Given the description of an element on the screen output the (x, y) to click on. 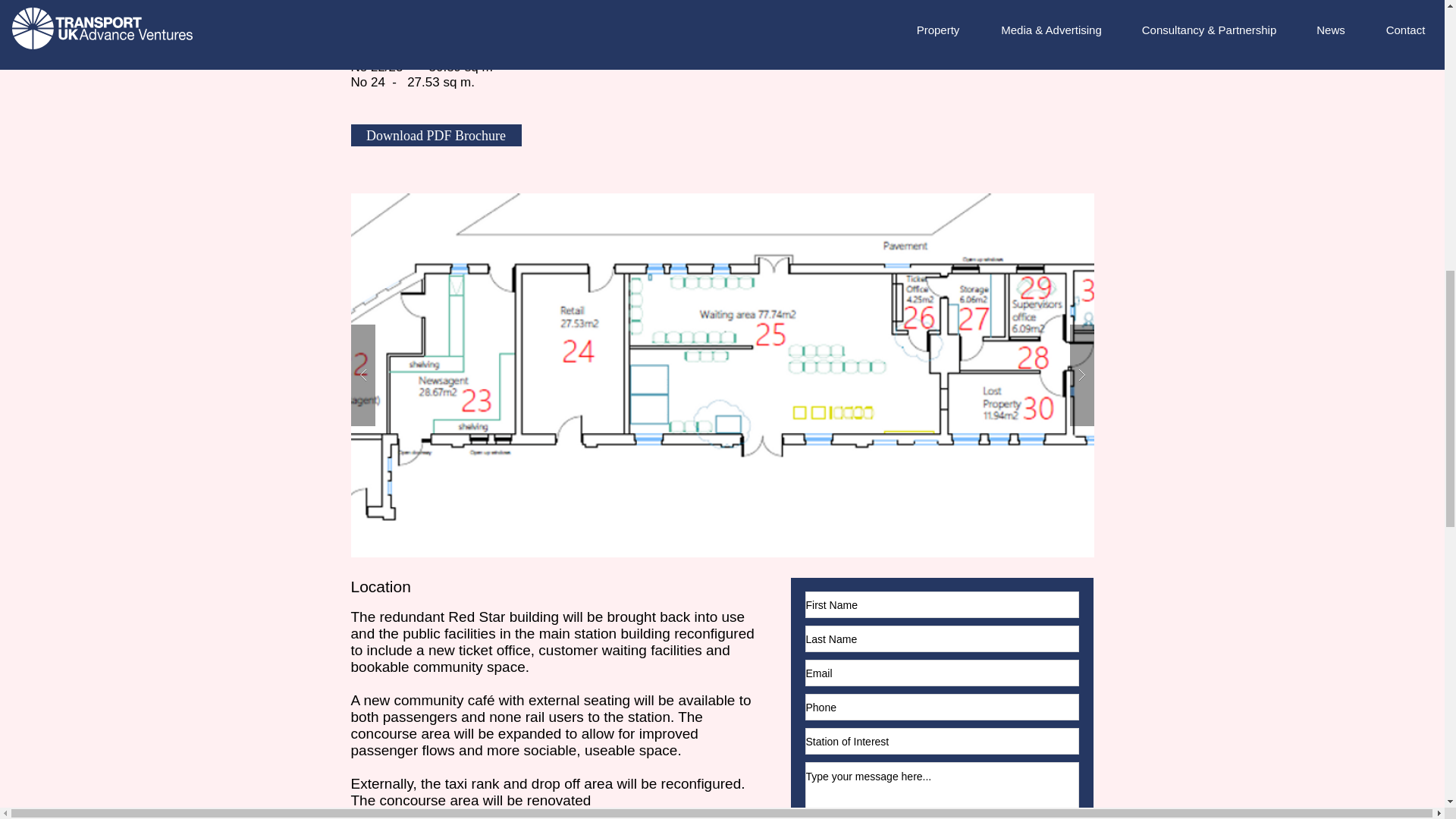
Download PDF Brochure (435, 135)
